Given the description of an element on the screen output the (x, y) to click on. 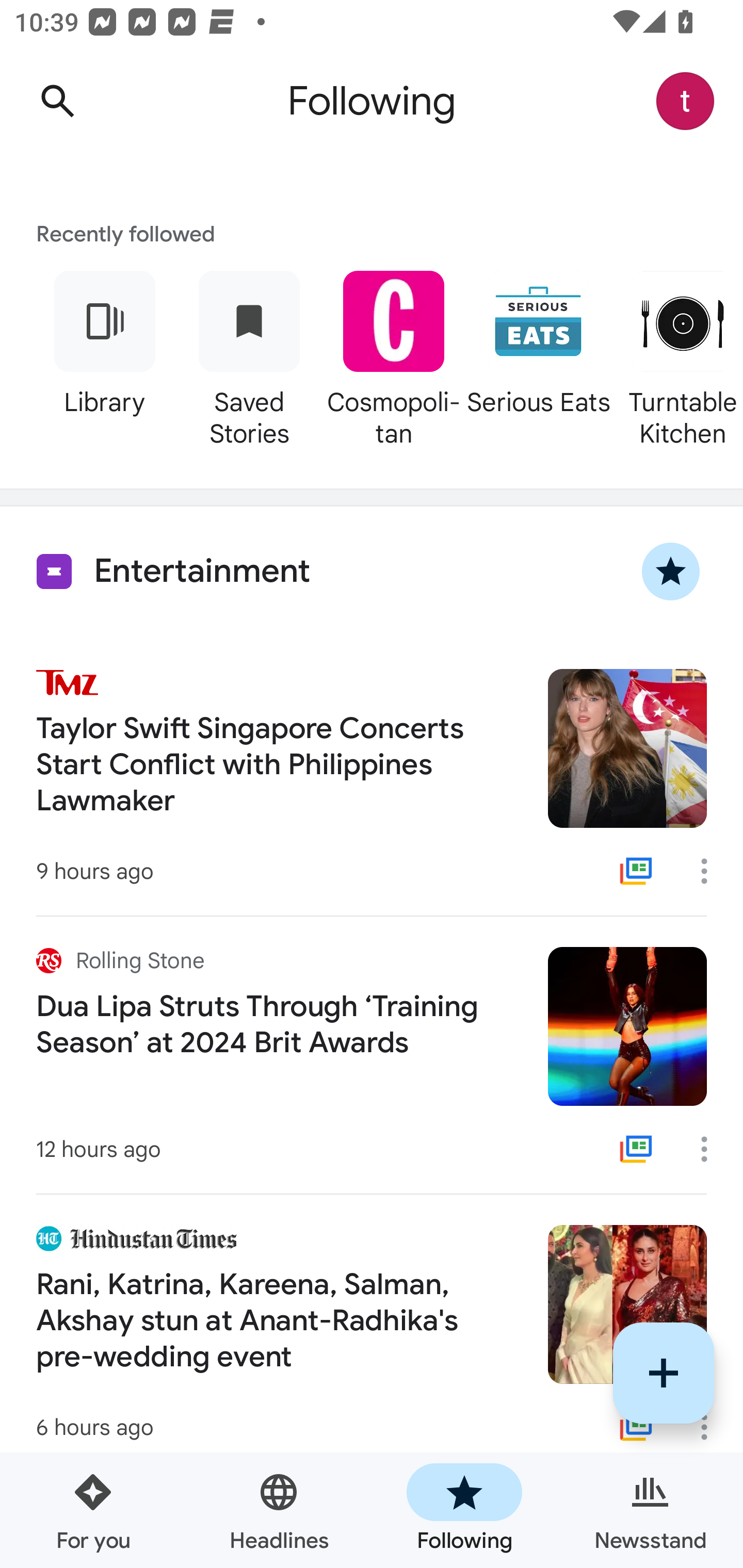
Search (57, 100)
Library (104, 355)
Saved Stories (248, 355)
Cosmopolitan (393, 355)
Serious Eats (537, 355)
Turntable Kitchen (676, 355)
Entertainment Entertainment Unfollow (371, 571)
Unfollow (670, 571)
More options (711, 870)
More options (711, 1149)
Follow (663, 1372)
More options (711, 1426)
For you (92, 1509)
Headlines (278, 1509)
Following (464, 1509)
Newsstand (650, 1509)
